Given the description of an element on the screen output the (x, y) to click on. 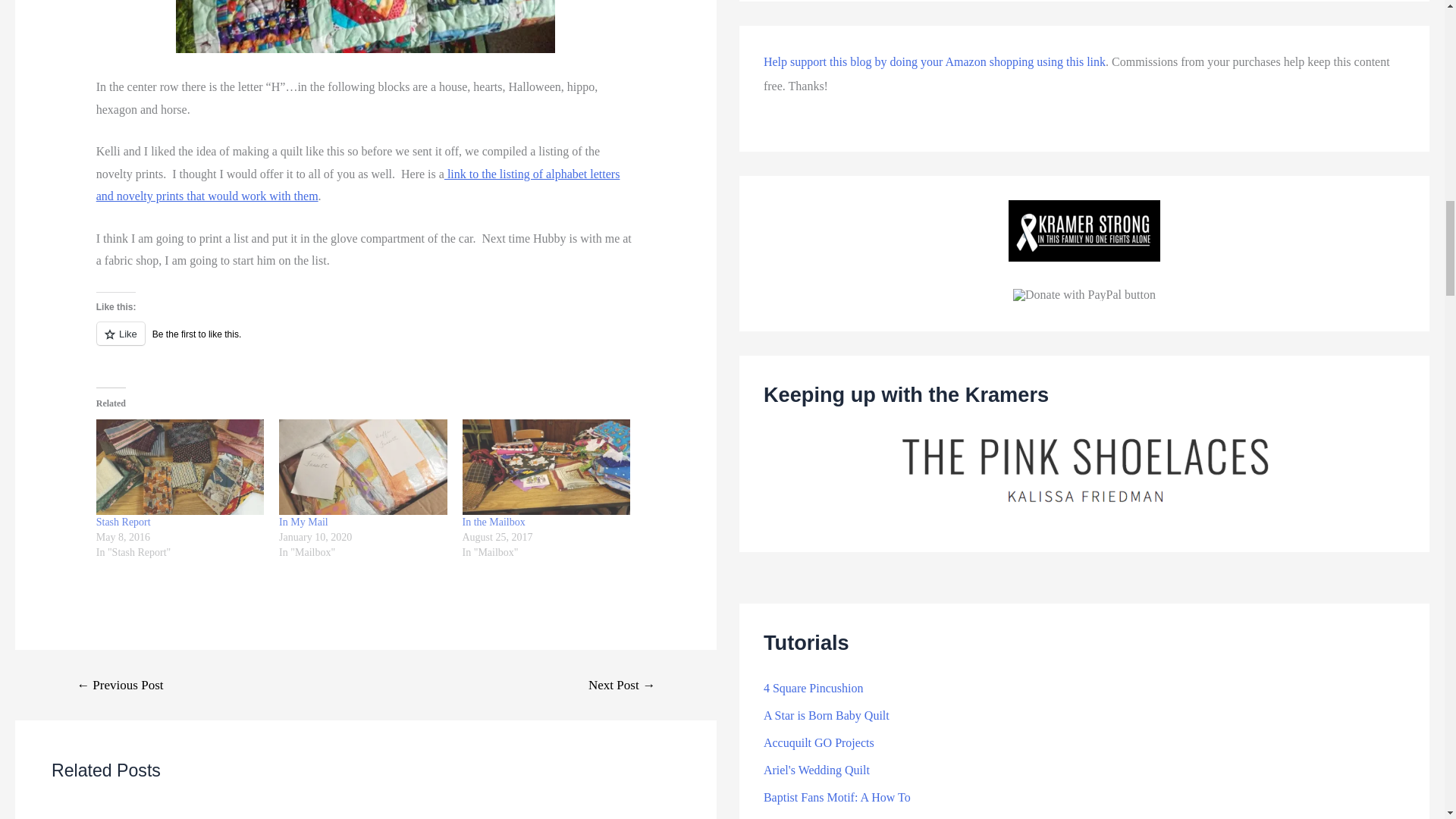
Like or Reblog (366, 342)
In the Mailbox (494, 521)
In the Mailbox (546, 467)
Stash Report (179, 467)
In My Mail (304, 521)
In My Mail (362, 467)
Stash Report (123, 521)
